Given the description of an element on the screen output the (x, y) to click on. 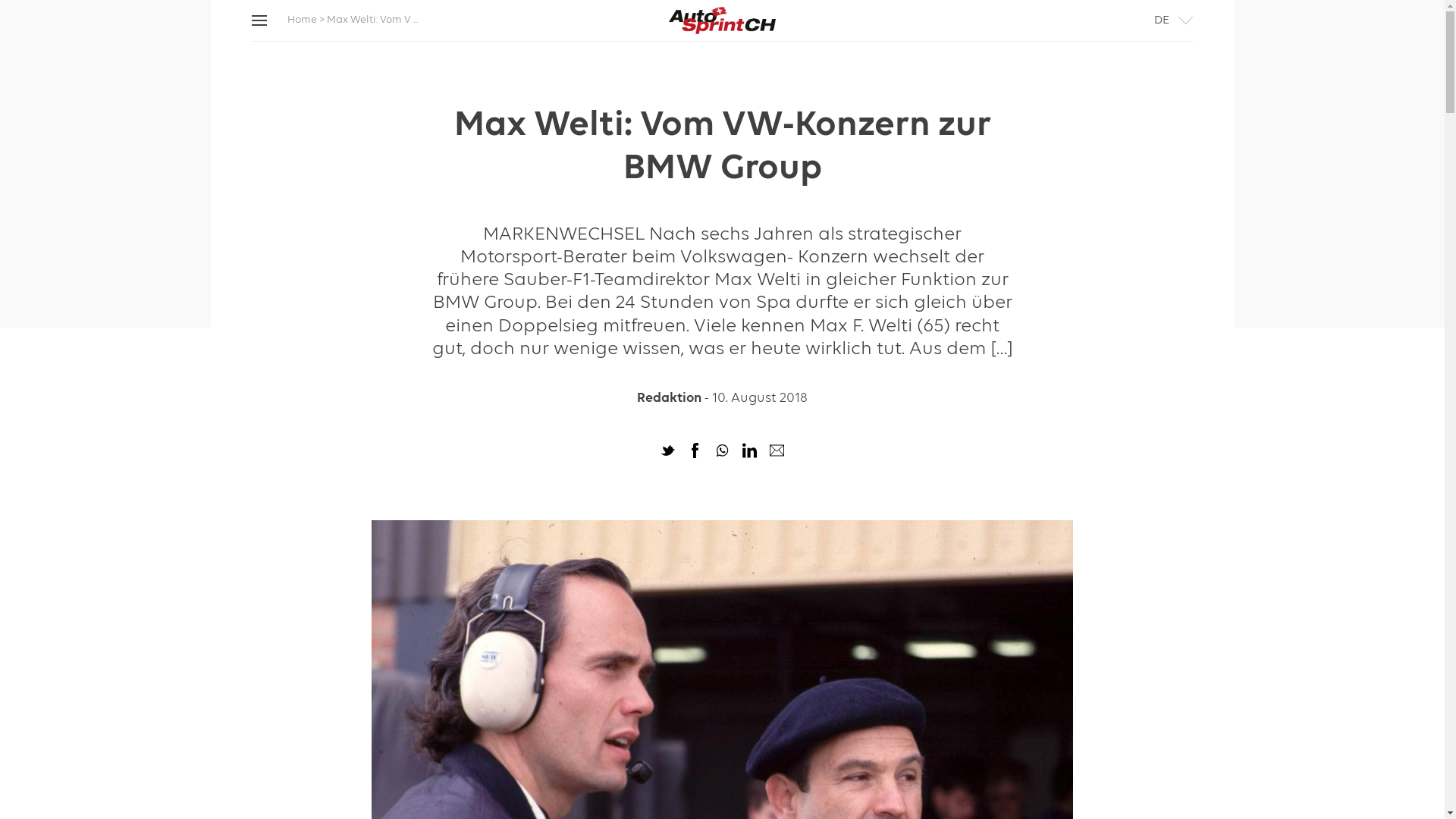
Home Element type: text (301, 20)
DE Element type: text (1161, 20)
Share by Email Element type: hover (776, 453)
Share on Linkedin Element type: hover (748, 453)
Tweet this Element type: hover (667, 453)
Share on Facebook Element type: hover (695, 453)
